Given the description of an element on the screen output the (x, y) to click on. 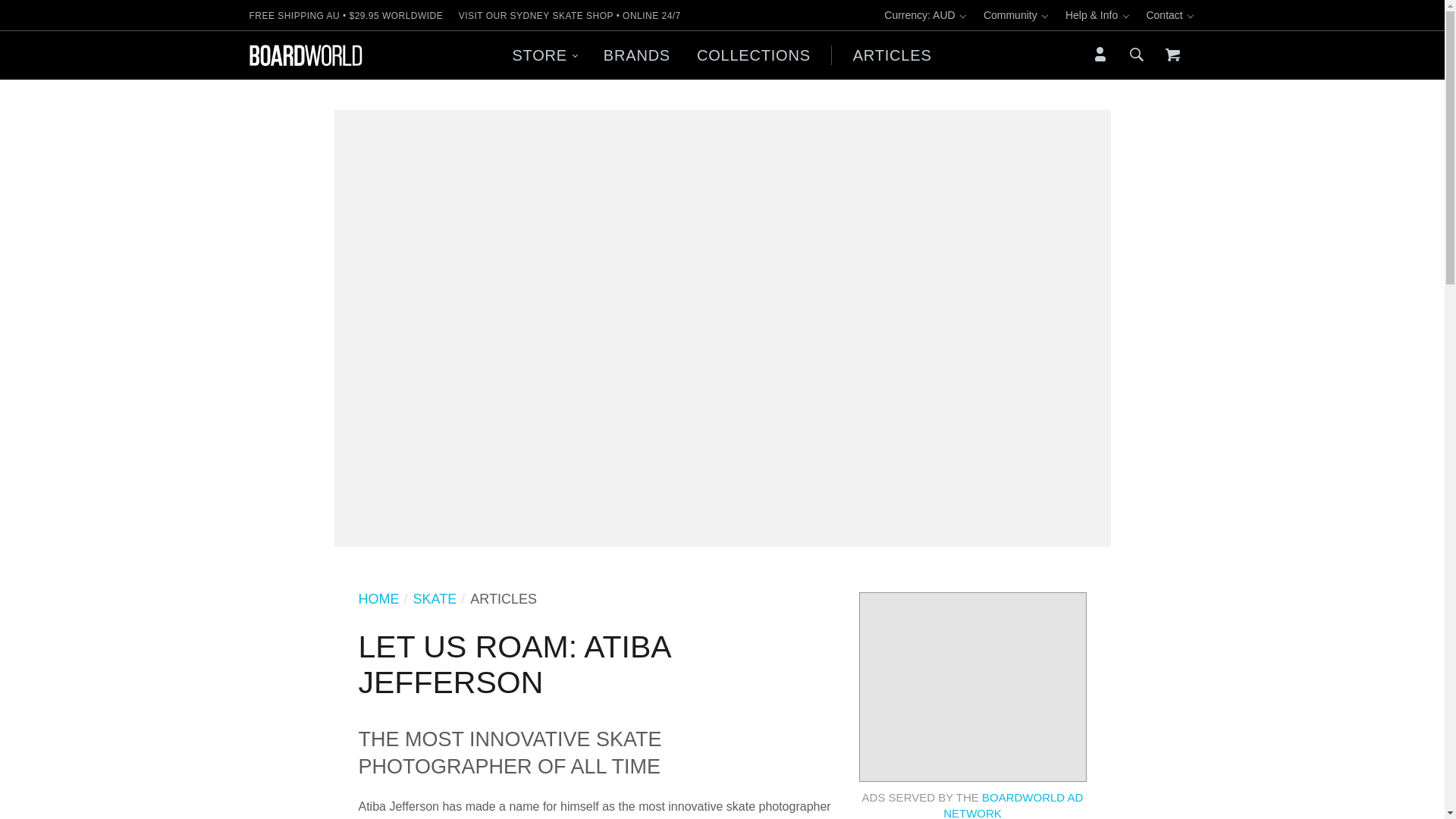
ARTICLES (892, 55)
BRANDS (635, 55)
COLLECTIONS (753, 55)
Currency: AUD (925, 14)
Contact (1170, 14)
STORE (544, 55)
Community (1016, 14)
Your Cart (1172, 55)
